Given the description of an element on the screen output the (x, y) to click on. 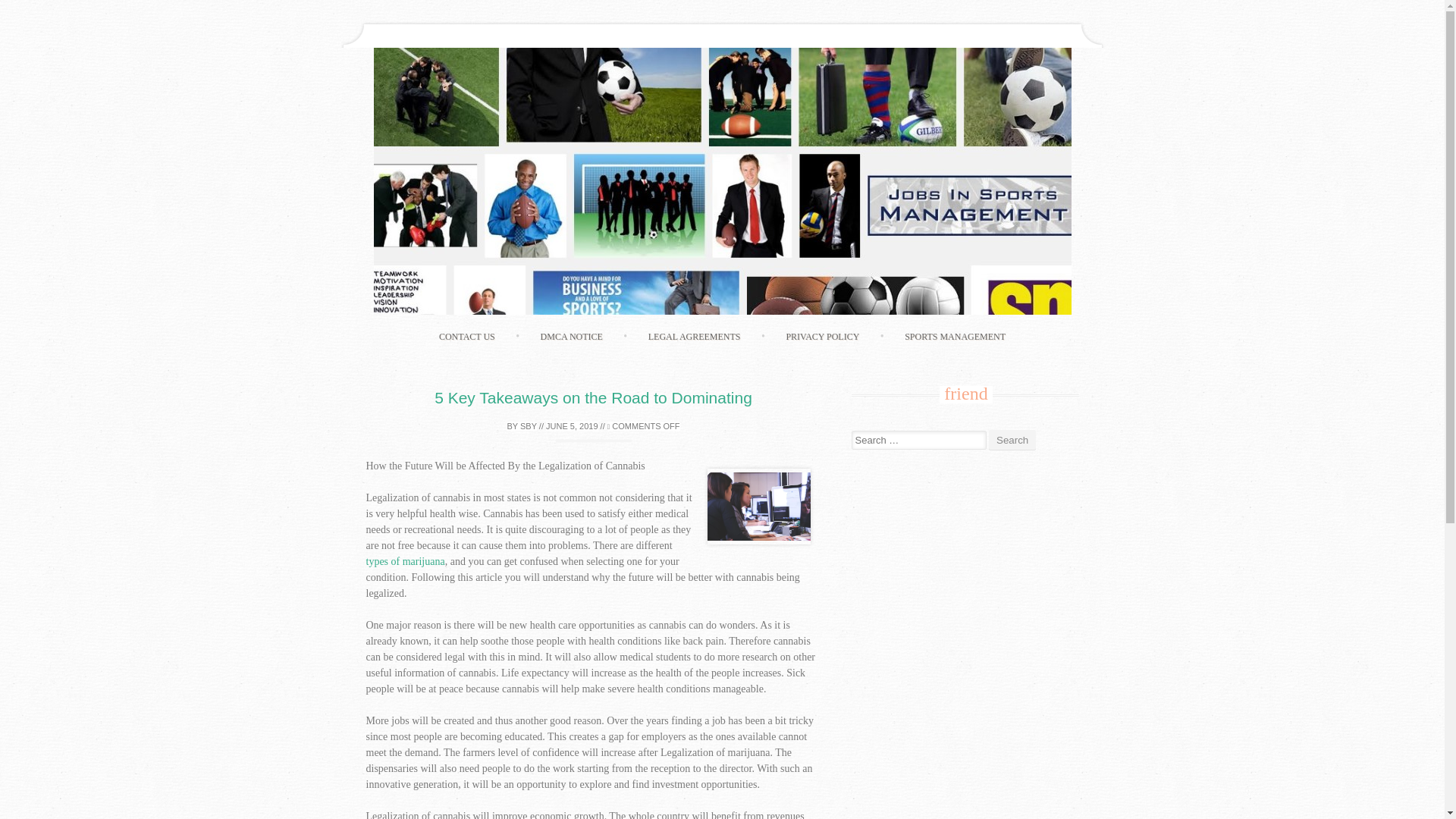
5 Key Takeaways on the Road to Dominating (592, 397)
DMCA NOTICE (571, 336)
Search (1011, 439)
SBY (528, 425)
types of marijuana (404, 560)
PRIVACY POLICY (822, 336)
CONTACT US (466, 336)
JUNE 5, 2019 (571, 425)
SPORTS MANAGEMENT (954, 336)
Search (1011, 439)
View all posts by sby (528, 425)
Search (1011, 439)
LEGAL AGREEMENTS (694, 336)
7:54 am (571, 425)
